Given the description of an element on the screen output the (x, y) to click on. 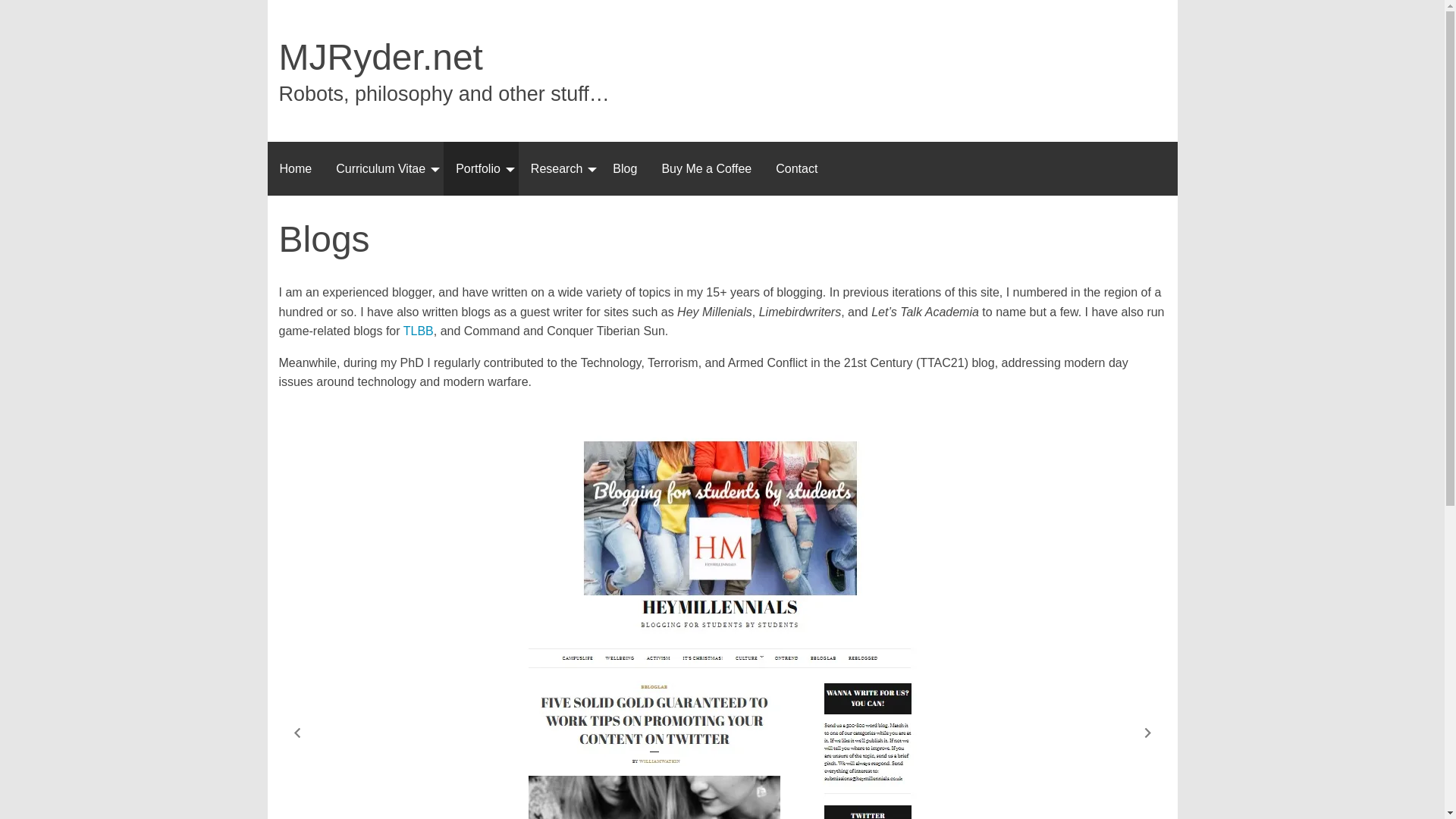
Curriculum Vitae (383, 167)
MJRyder.net (381, 56)
Portfolio (481, 167)
Research (558, 167)
Home (294, 167)
Contact (795, 167)
Buy Me a Coffee (705, 167)
Blog (624, 167)
TLBB (418, 330)
